Given the description of an element on the screen output the (x, y) to click on. 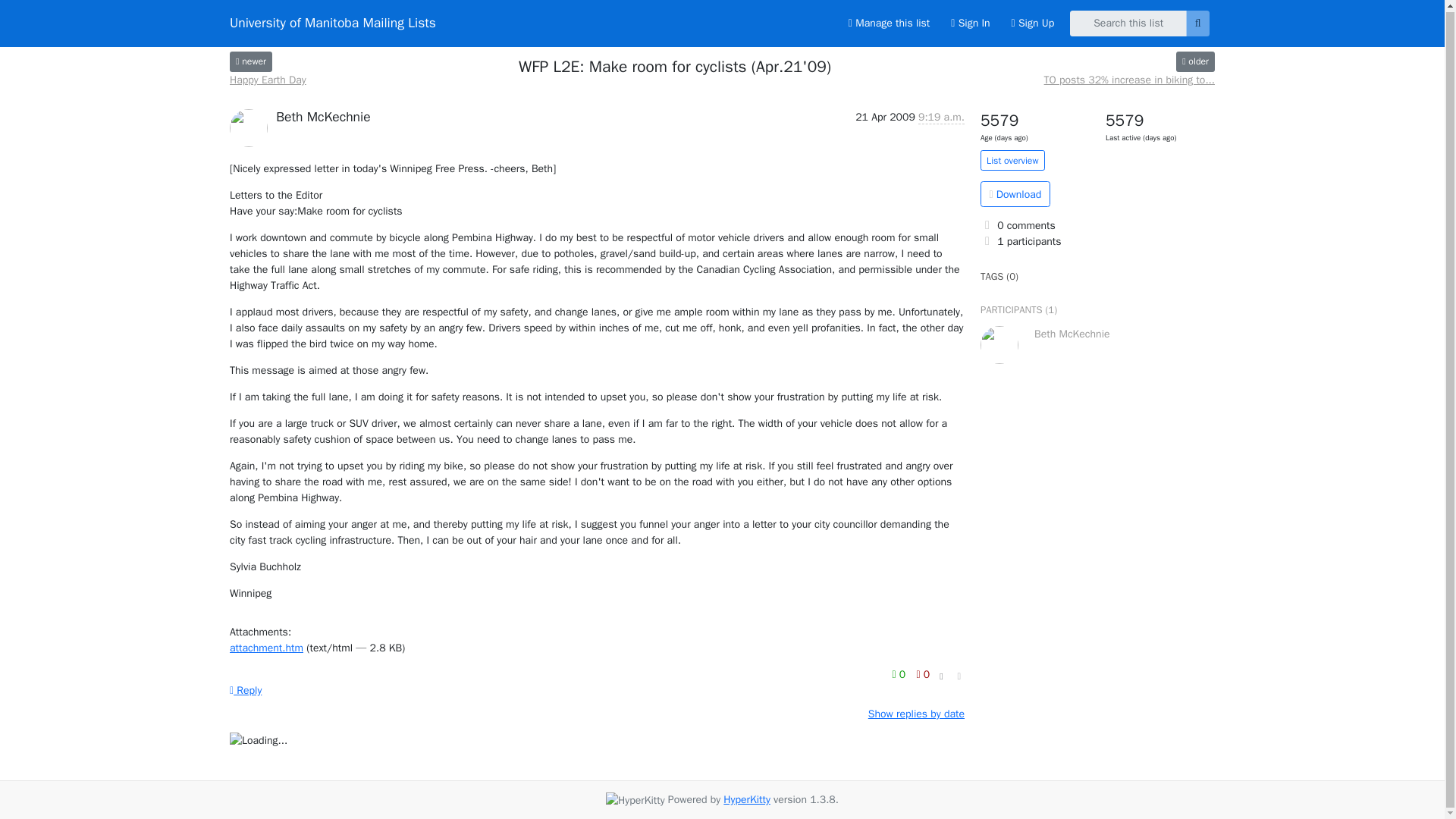
0 (900, 674)
You must be logged-in to vote. (900, 674)
You must be logged-in to vote. (922, 674)
Manage this list (889, 22)
Sign Up (1033, 22)
Happy Earth Day (251, 60)
Reply (246, 689)
0 (922, 674)
List overview (1012, 159)
Download (1014, 193)
attachment.htm (266, 647)
Show replies by date (915, 713)
This thread in gzipped mbox format (1014, 193)
University of Manitoba Mailing Lists (332, 22)
Sign In (970, 22)
